Given the description of an element on the screen output the (x, y) to click on. 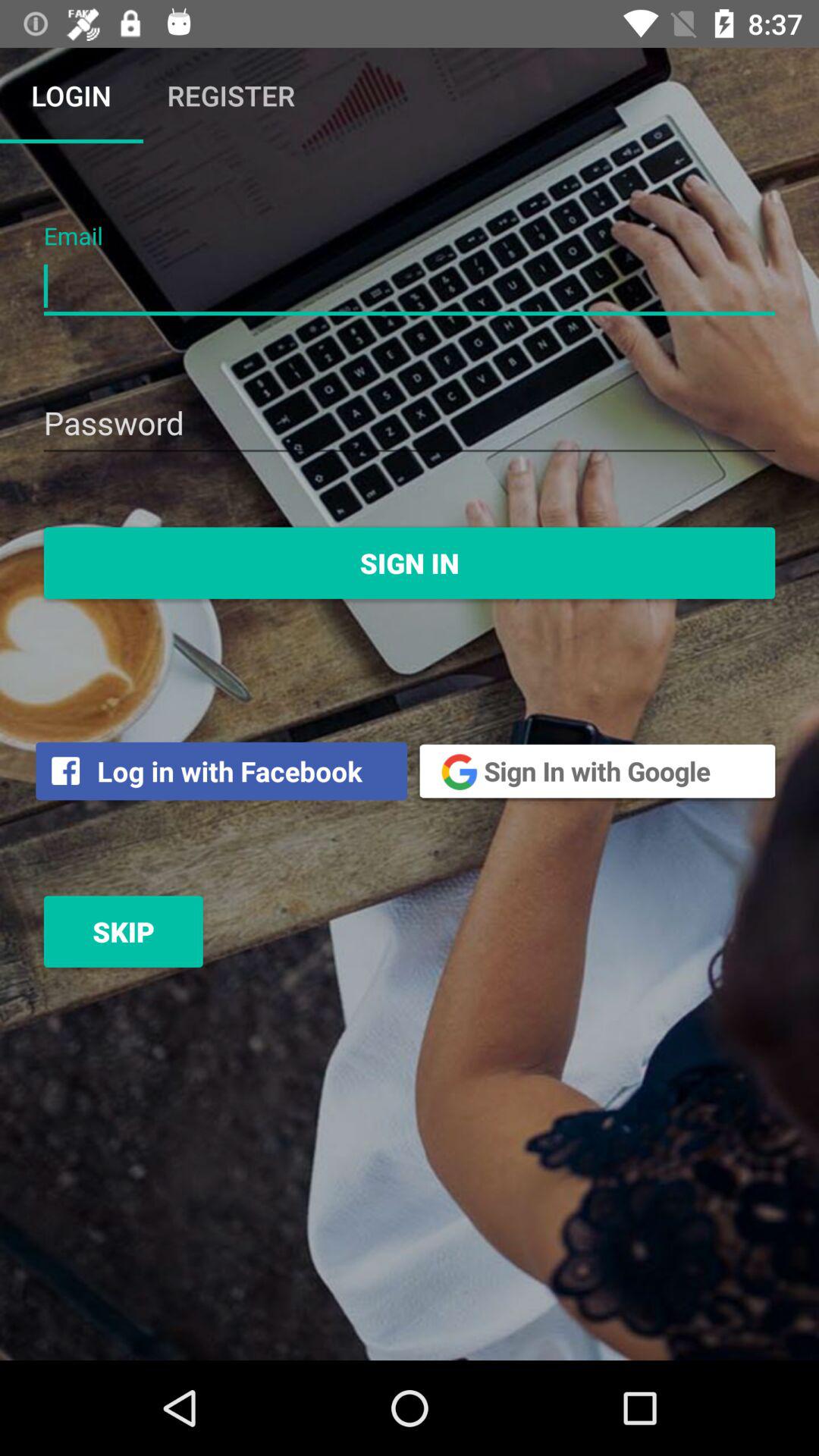
enter email address text box (409, 286)
